Given the description of an element on the screen output the (x, y) to click on. 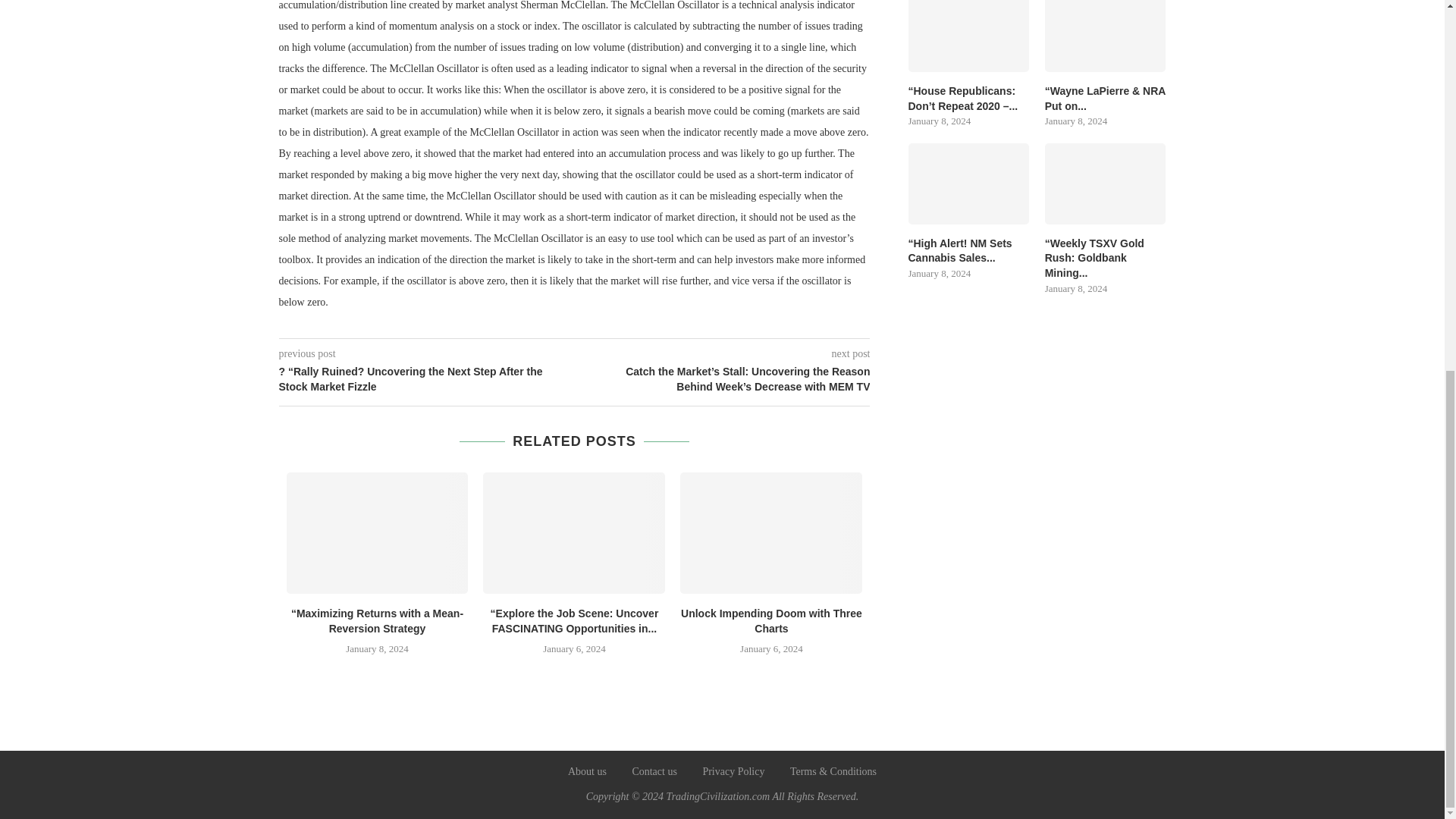
Unlock Impending Doom with Three Charts (770, 532)
Unlock Impending Doom with Three Charts (771, 620)
